Given the description of an element on the screen output the (x, y) to click on. 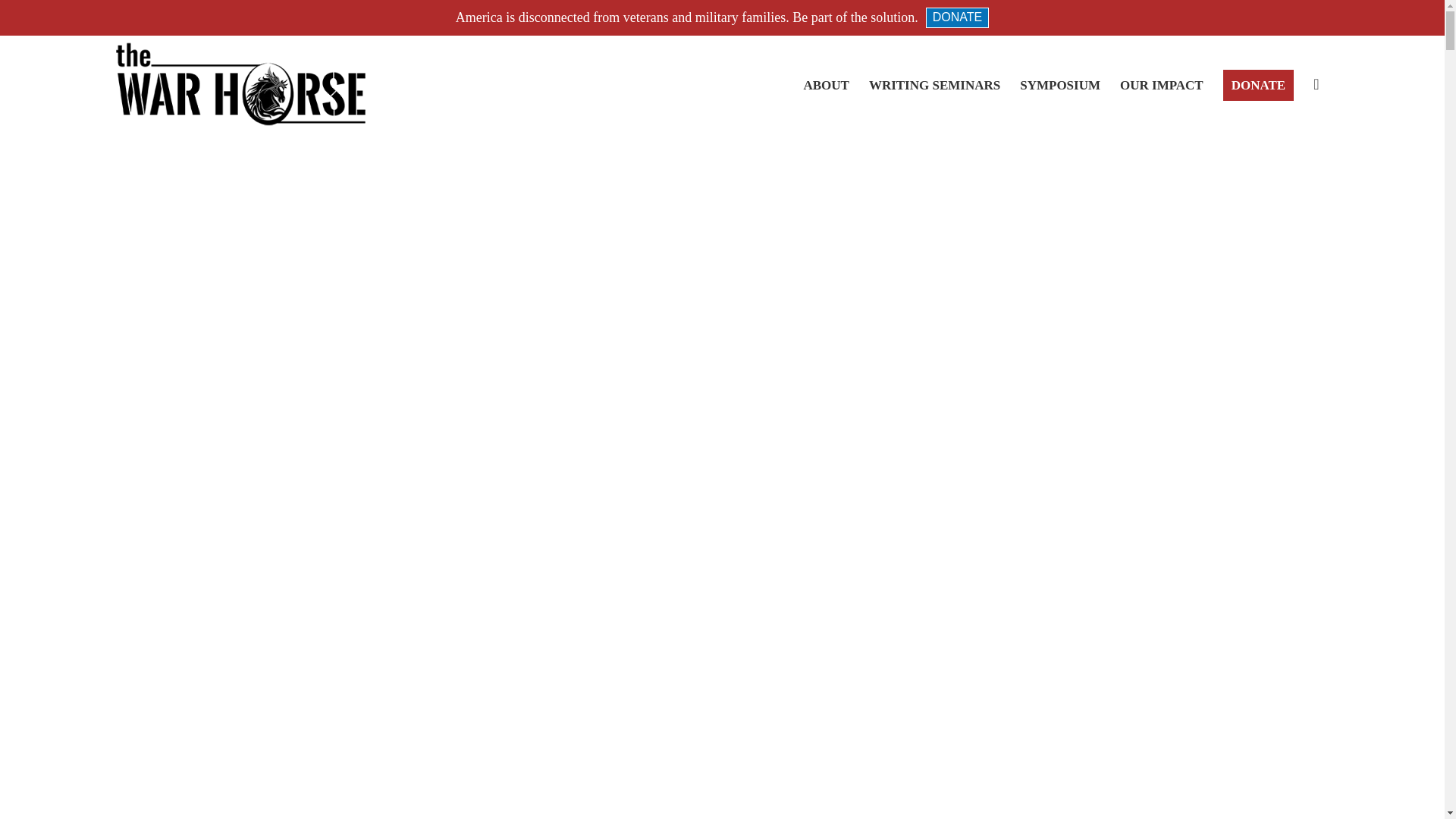
OUR IMPACT (1160, 84)
WRITING SEMINARS (934, 84)
DONATE (957, 17)
SYMPOSIUM (1059, 84)
DONATE (1257, 84)
